Given the description of an element on the screen output the (x, y) to click on. 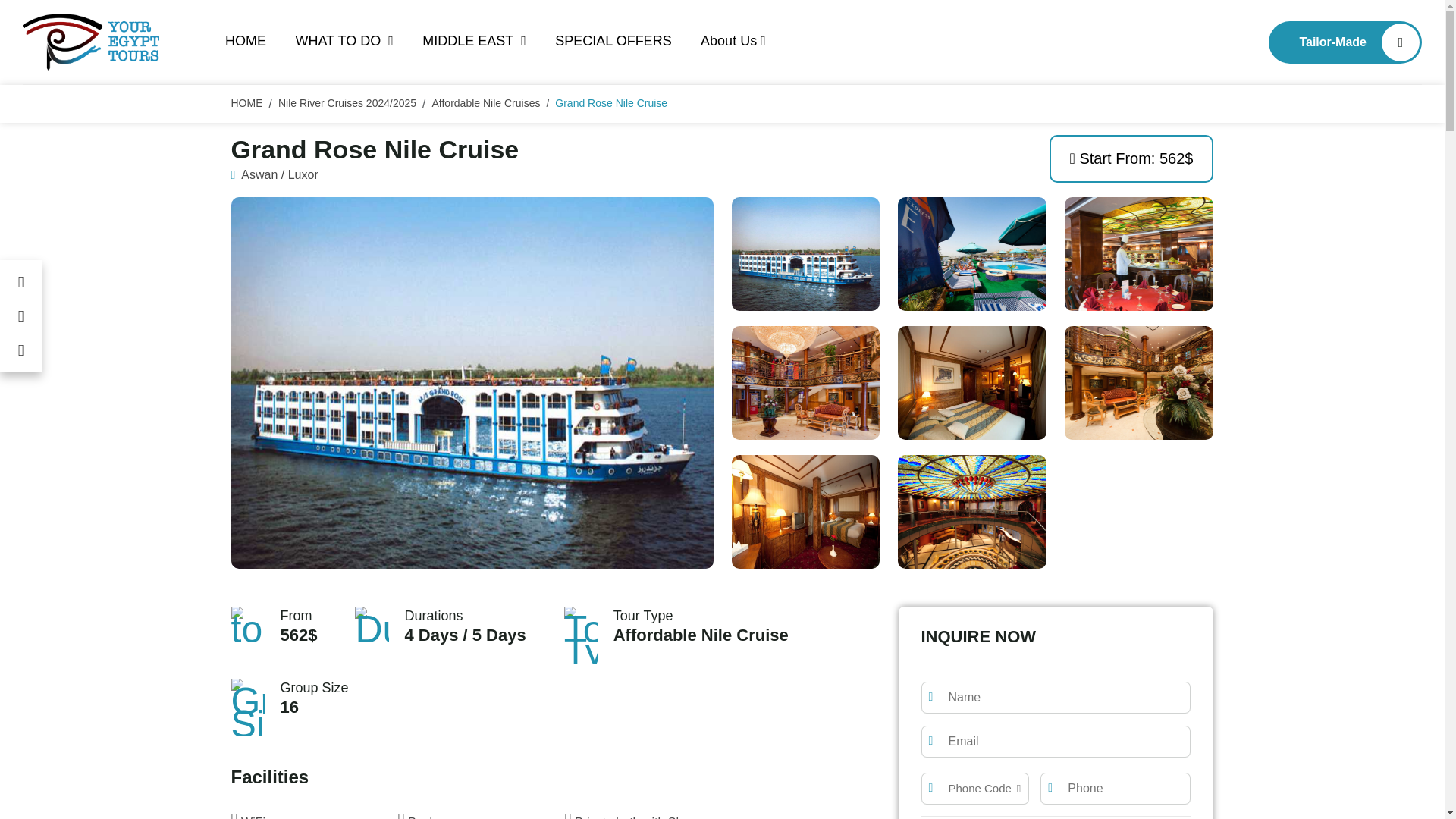
Your Egypt Tours (90, 41)
Tailor-Made (1345, 42)
MIDDLE EAST (473, 42)
WHAT TO DO (344, 42)
tour.price (247, 623)
Durations (371, 623)
SPECIAL OFFERS (612, 42)
Affordable Nile Cruises (486, 103)
Australian English (1198, 42)
